Given the description of an element on the screen output the (x, y) to click on. 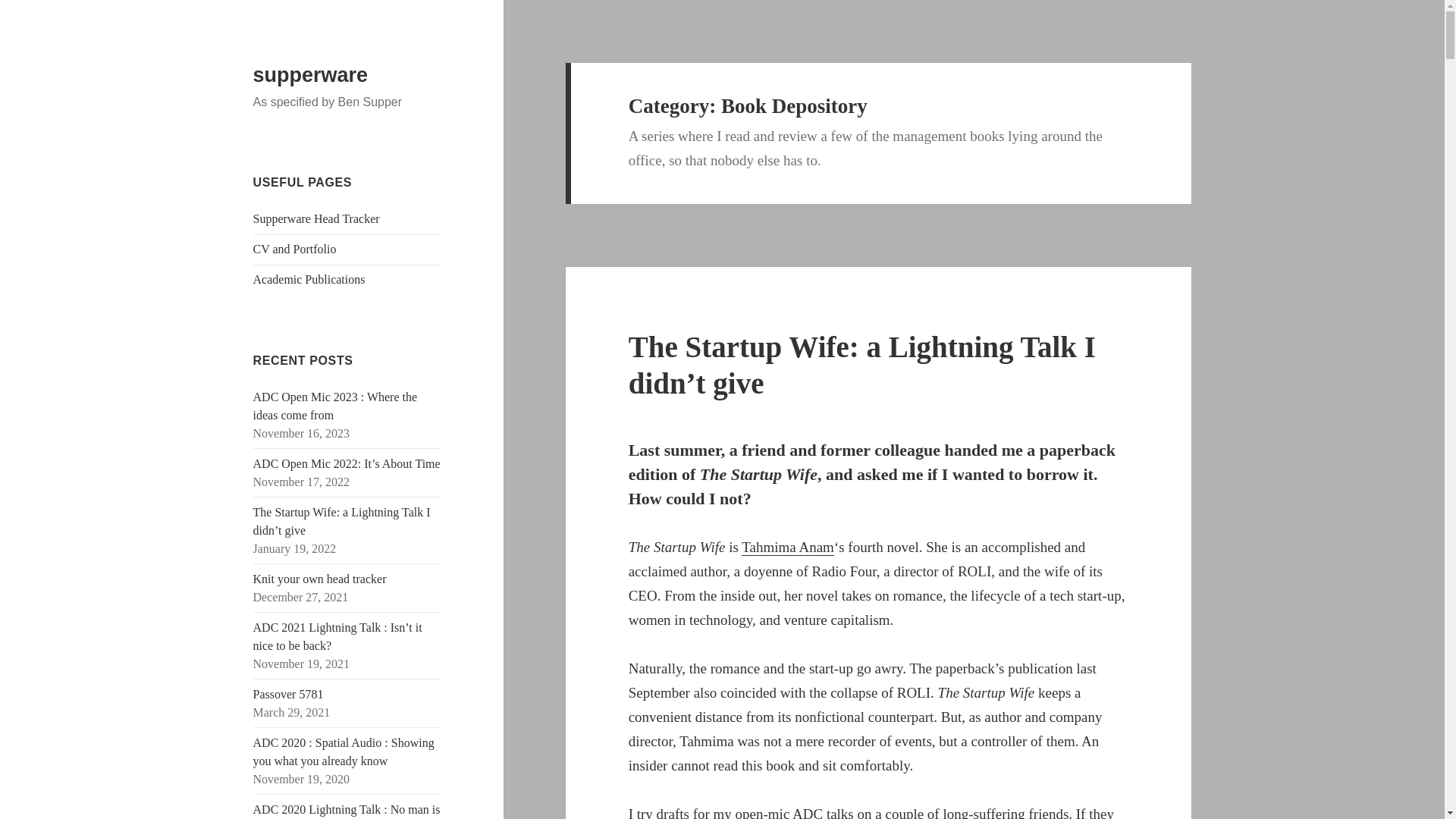
ADC Open Mic 2023 : Where the ideas come from (335, 405)
Knit your own head tracker (320, 578)
Passover 5781 (288, 694)
supperware (310, 74)
Supperware Head Tracker (316, 218)
Tahmima Anam (787, 547)
CV and Portfolio (294, 248)
Academic Publications (309, 278)
ADC 2020 : Spatial Audio : Showing you what you already know (343, 751)
